Given the description of an element on the screen output the (x, y) to click on. 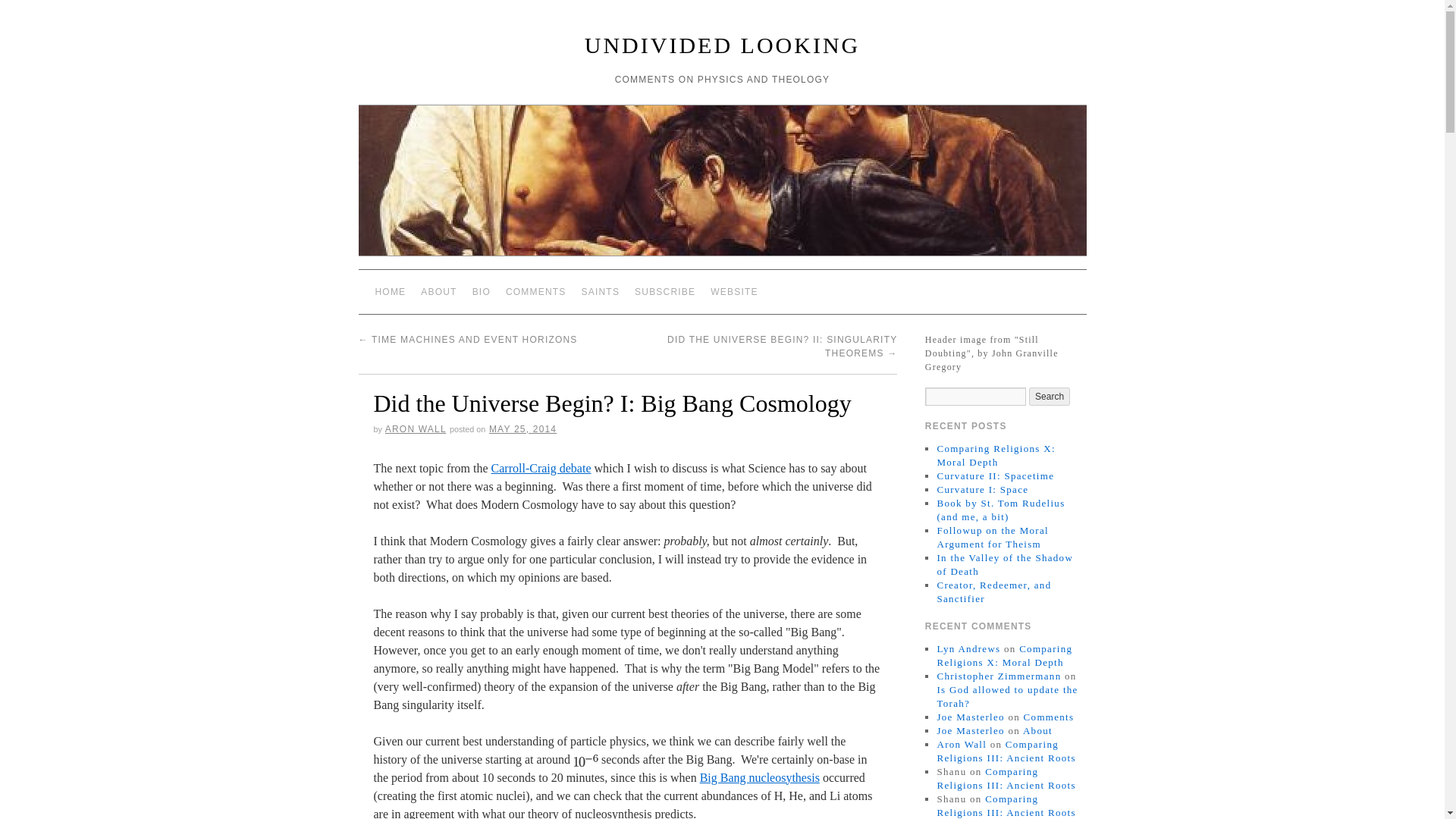
UNDIVIDED LOOKING (722, 44)
HOME (389, 291)
Search (1049, 396)
Thoughts on the Carroll-Craig Debate (541, 468)
WEBSITE (734, 291)
SUBSCRIBE (665, 291)
12:03 AM (522, 429)
COMMENTS (535, 291)
ABOUT (438, 291)
ARON WALL (415, 429)
SAINTS (600, 291)
Home (389, 291)
Undivided Looking (722, 44)
Comparing Religions X: Moral Depth (995, 455)
Curvature II: Spacetime (995, 475)
